Given the description of an element on the screen output the (x, y) to click on. 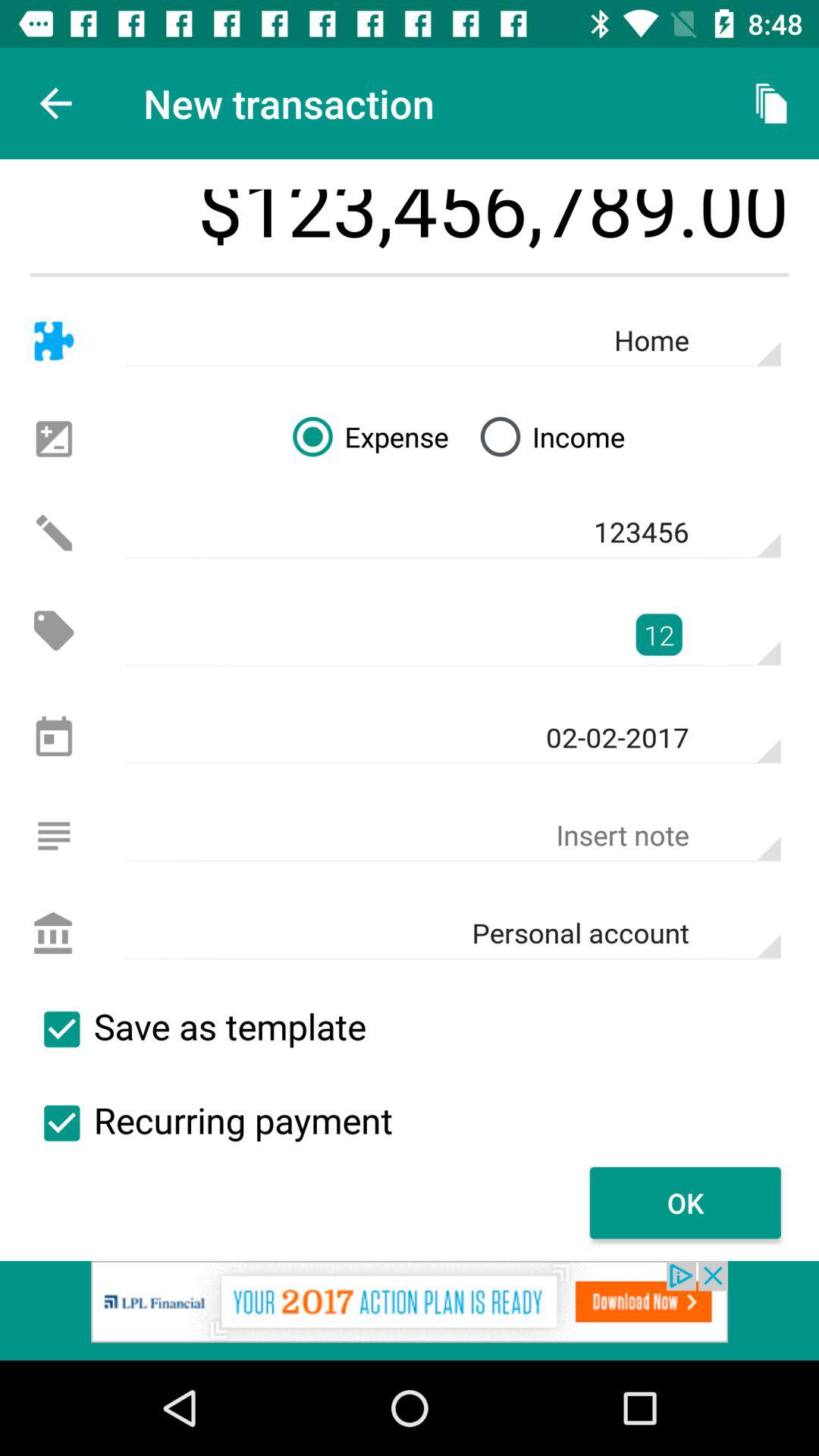
price (53, 630)
